Given the description of an element on the screen output the (x, y) to click on. 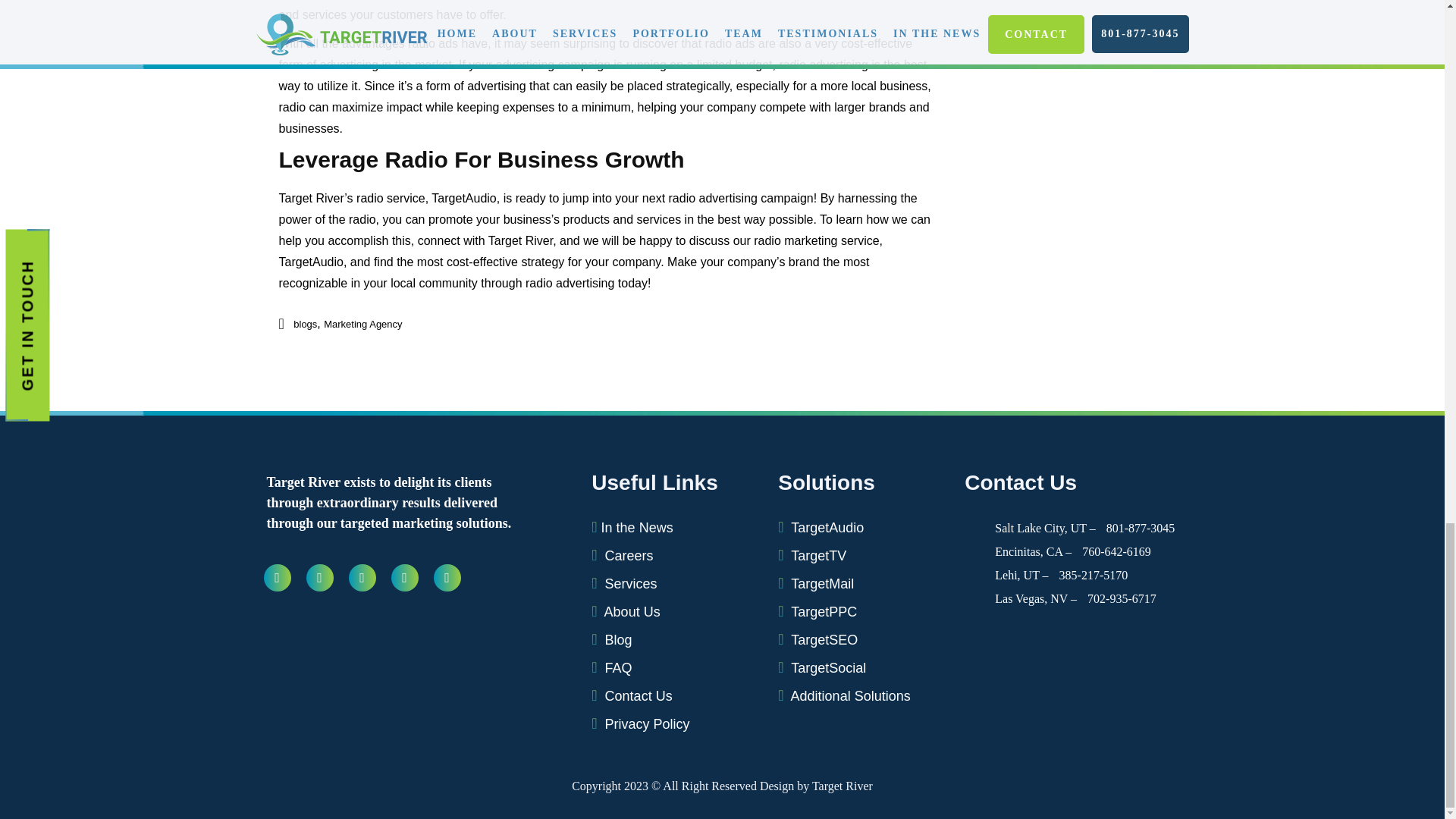
Blog (674, 636)
Careers (674, 551)
Marketing Agency (362, 324)
In the News (674, 527)
About Us (674, 607)
Services (674, 579)
FAQ (674, 664)
blogs (305, 324)
Contact Us (674, 692)
Privacy Policy (674, 720)
